Given the description of an element on the screen output the (x, y) to click on. 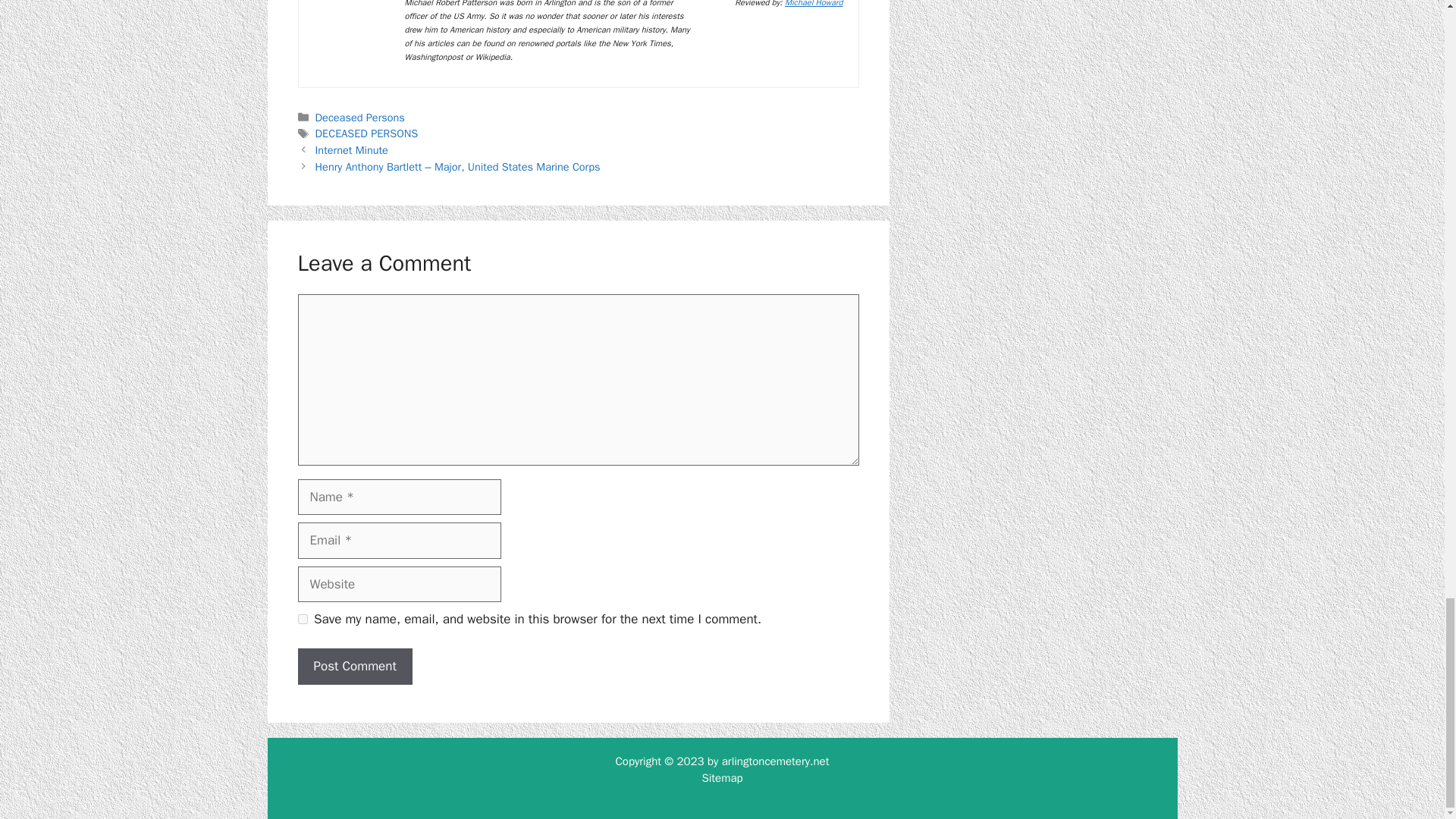
Post Comment (354, 666)
yes (302, 619)
